Given the description of an element on the screen output the (x, y) to click on. 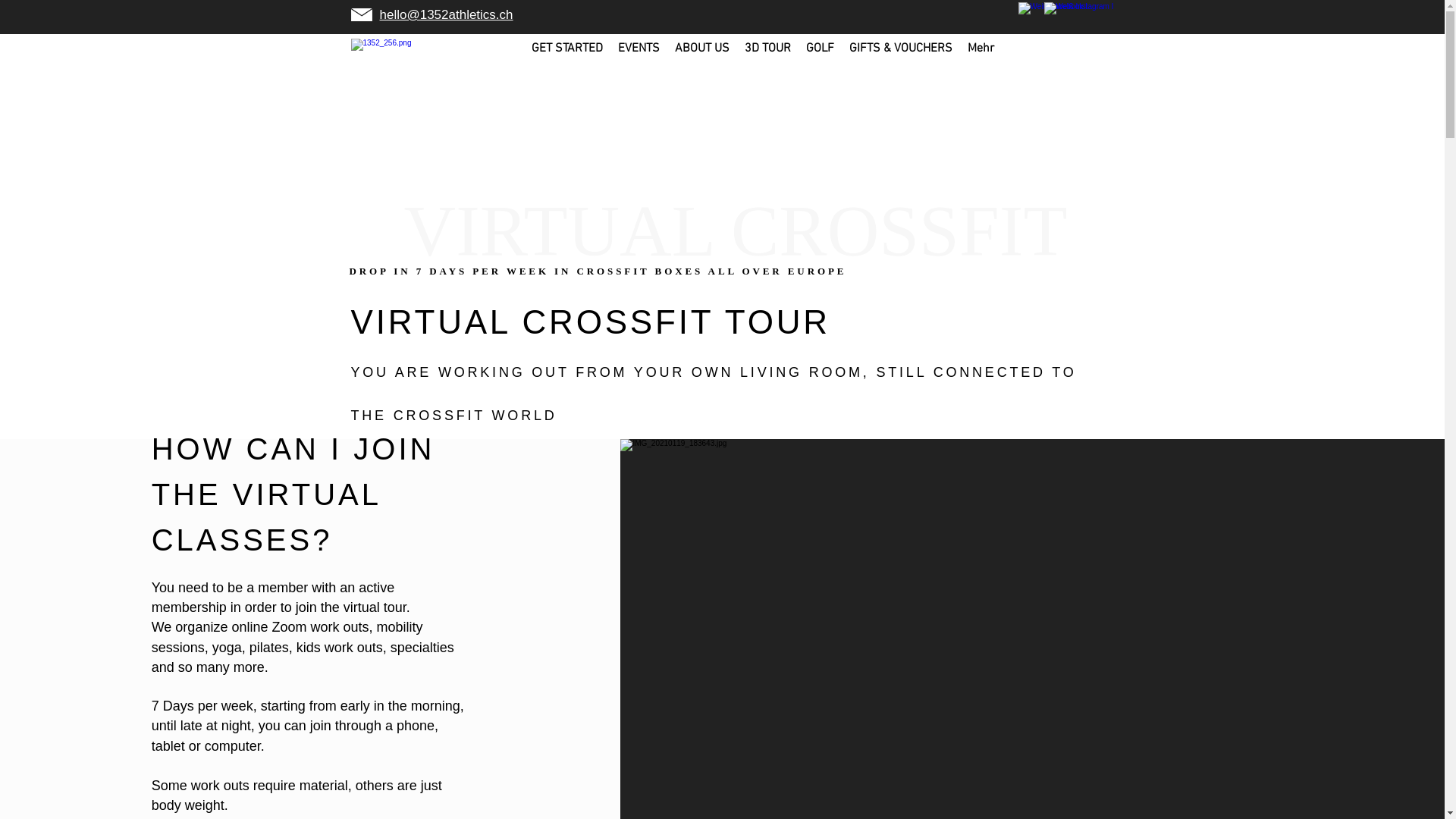
GOLF Element type: text (819, 61)
GIFTS & VOUCHERS Element type: text (900, 61)
EVENTS Element type: text (638, 61)
hello@1352athletics.ch Element type: text (445, 14)
3D TOUR Element type: text (767, 61)
GET STARTED Element type: text (567, 61)
